Given the description of an element on the screen output the (x, y) to click on. 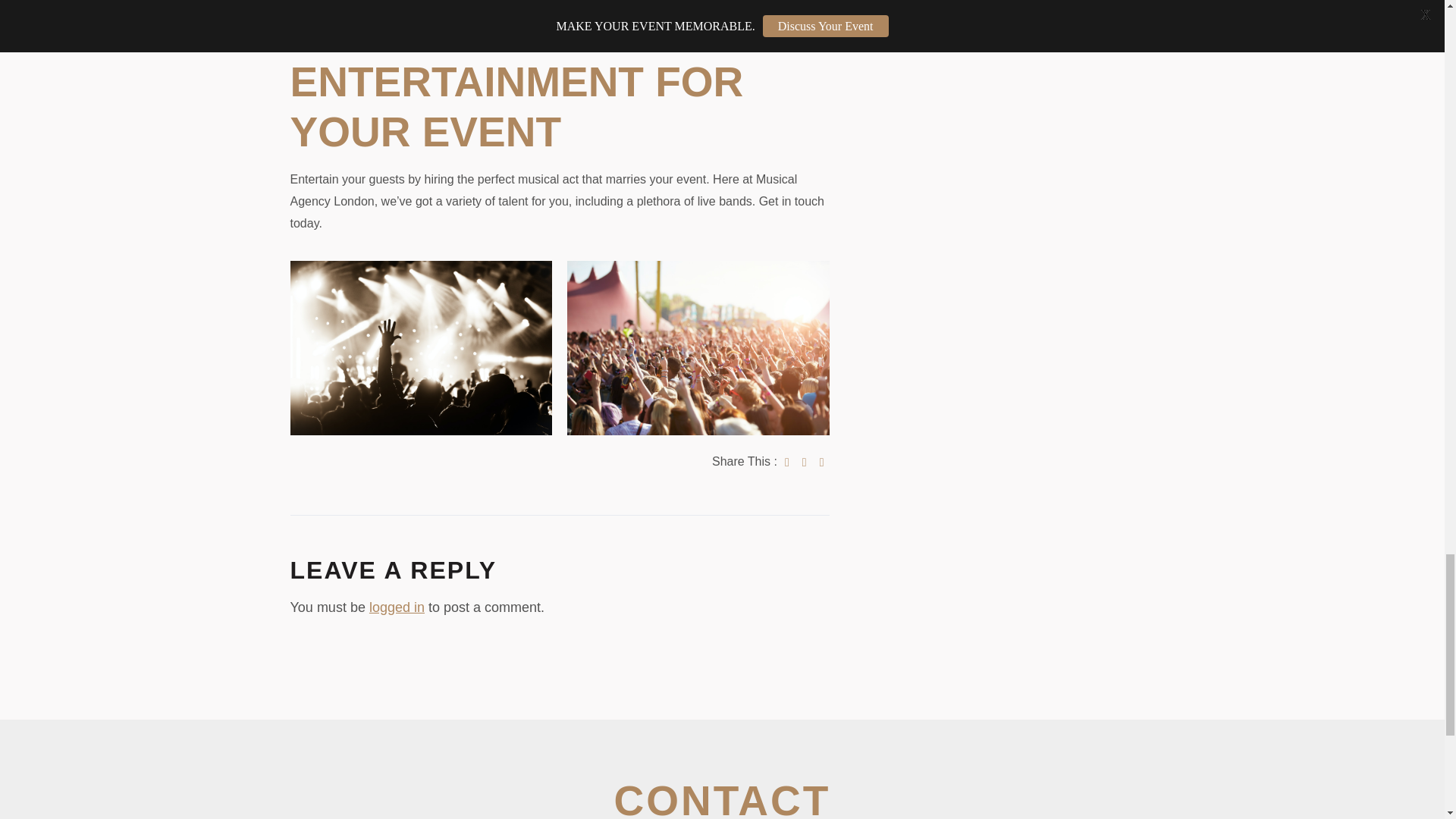
logged in (397, 607)
